Given the description of an element on the screen output the (x, y) to click on. 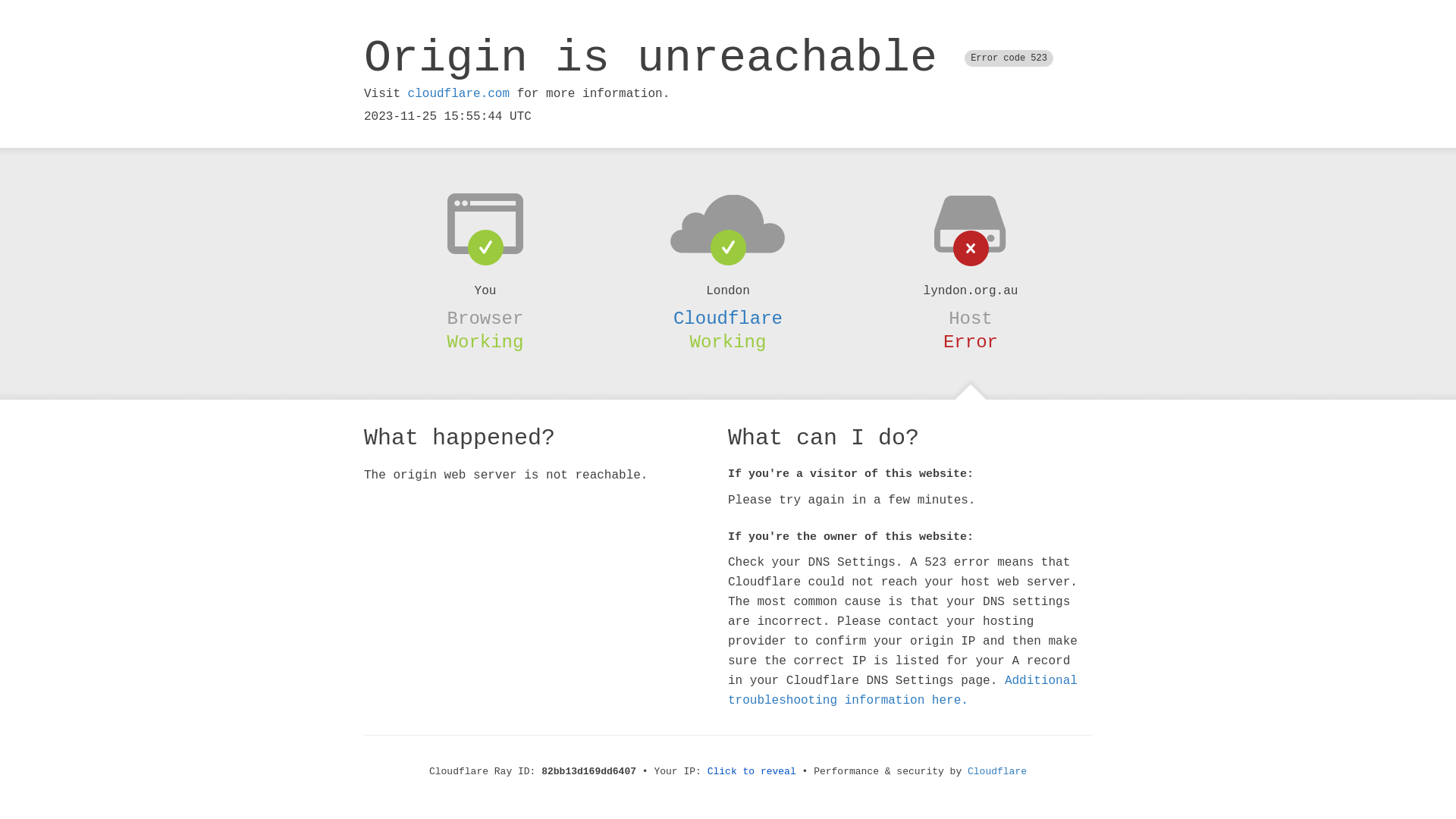
Cloudflare Element type: text (727, 318)
Cloudflare Element type: text (996, 771)
Click to reveal Element type: text (751, 771)
cloudflare.com Element type: text (458, 93)
Additional troubleshooting information here. Element type: text (902, 690)
